Given the description of an element on the screen output the (x, y) to click on. 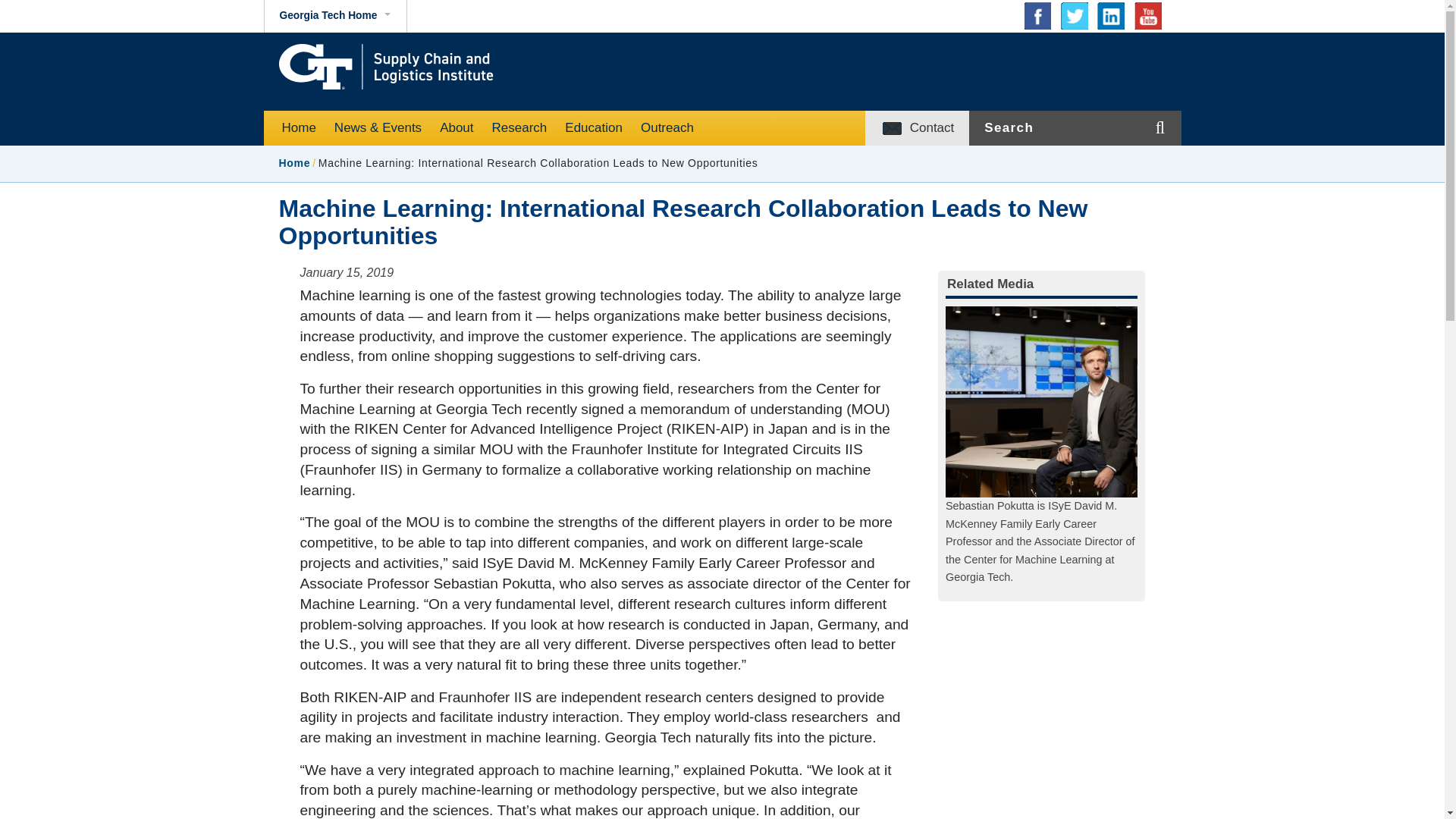
Home (298, 127)
Georgia Tech (521, 65)
Search Button (1203, 155)
About (455, 127)
Georgia Tech (572, 94)
Outreach (667, 127)
